Given the description of an element on the screen output the (x, y) to click on. 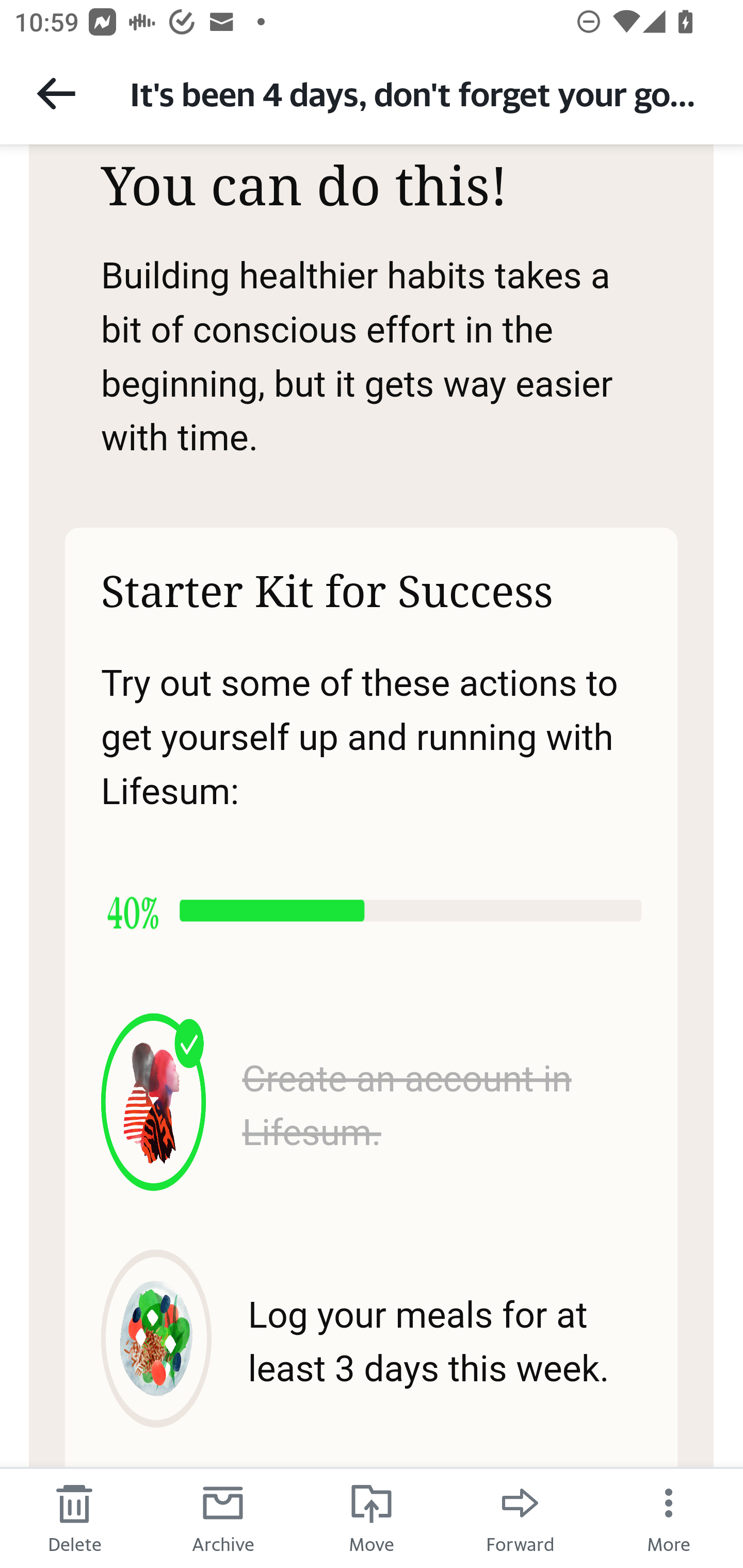
Back (55, 92)
Progress bar showing 40% completion rate (370, 910)
Delete (74, 1517)
Archive (222, 1517)
Move (371, 1517)
Forward (519, 1517)
More (668, 1517)
